Given the description of an element on the screen output the (x, y) to click on. 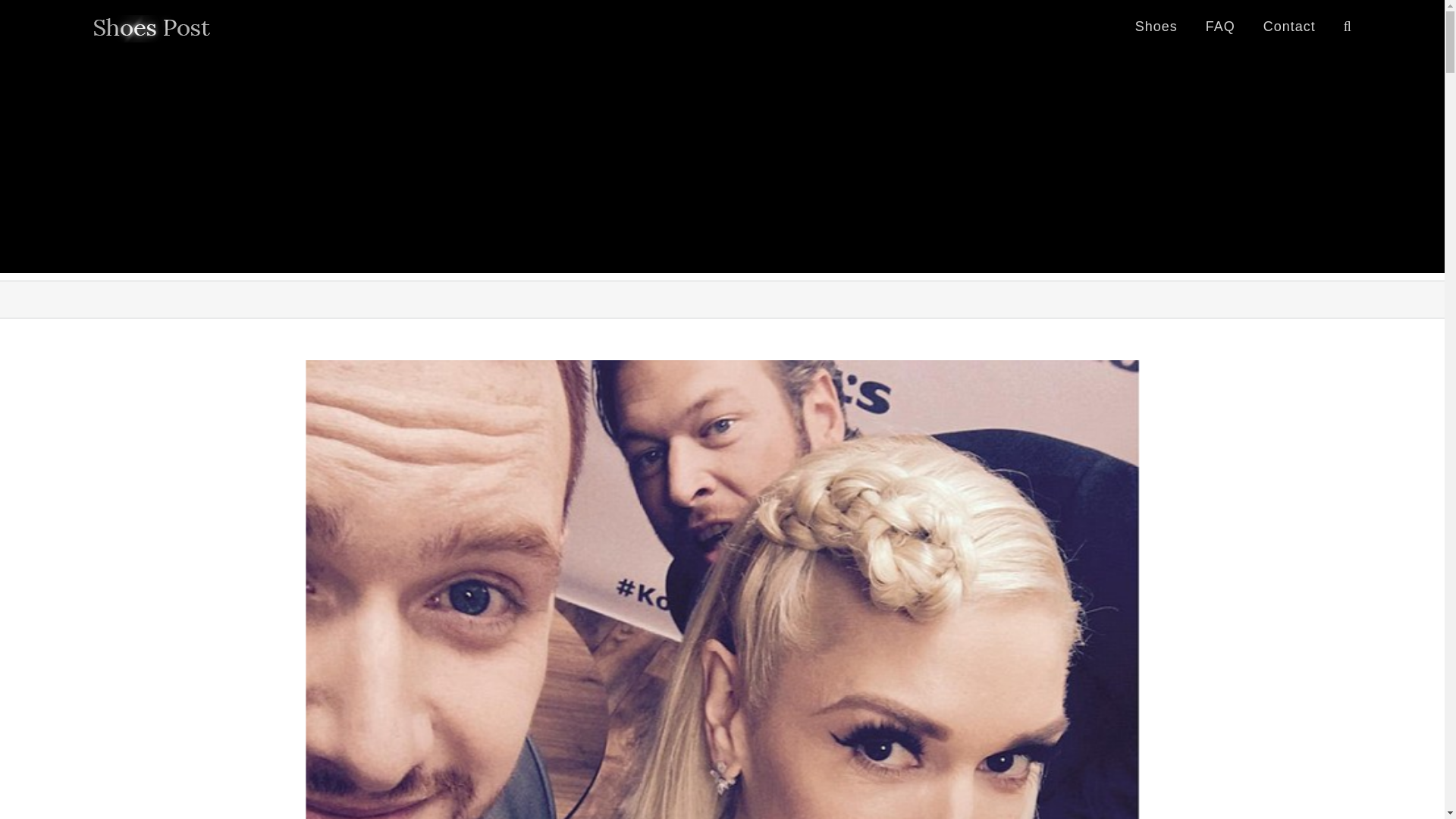
Contact (1289, 26)
Shoes (1156, 26)
